Given the description of an element on the screen output the (x, y) to click on. 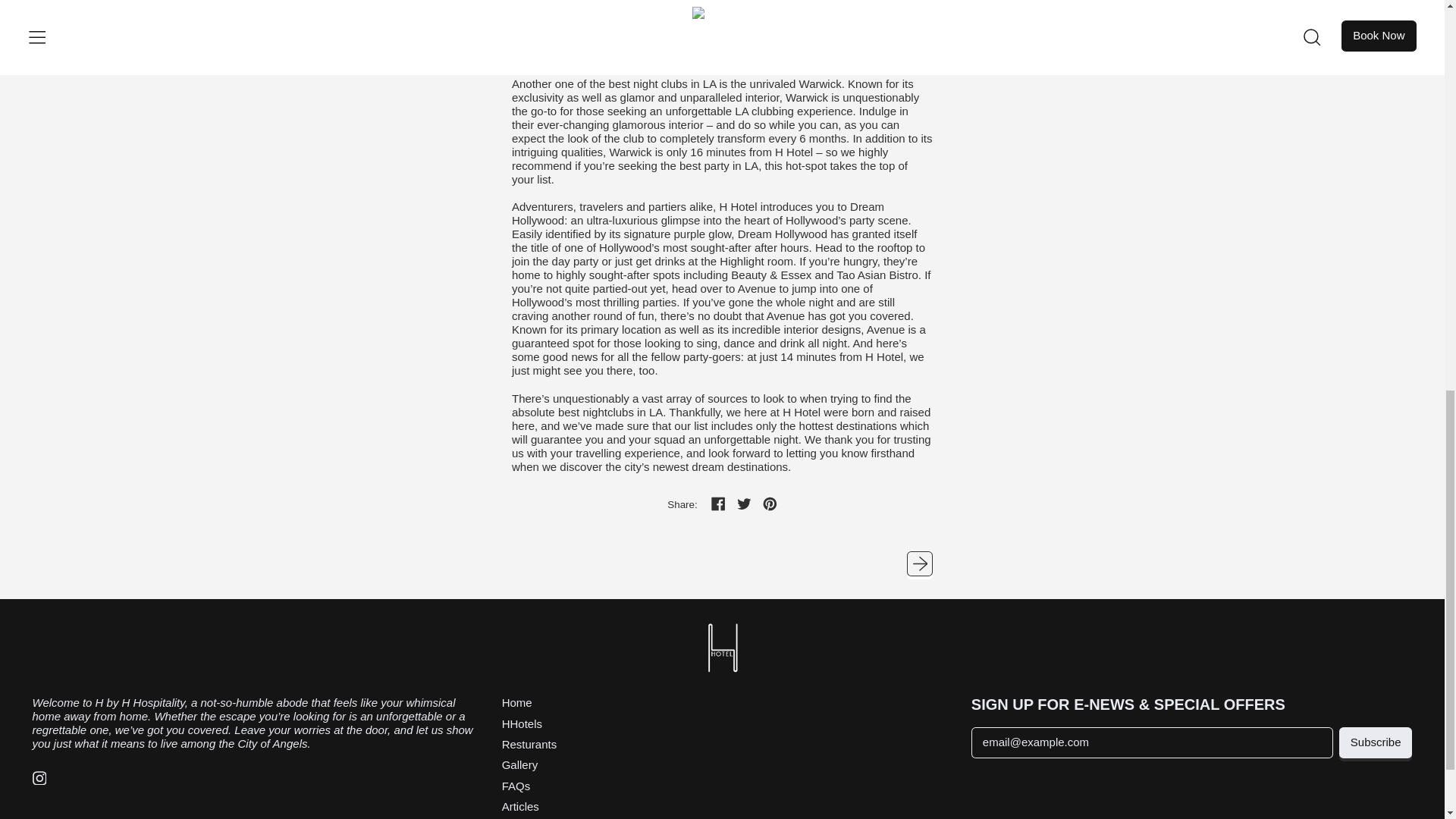
Subscribe (1375, 742)
Resturants (529, 744)
FAQs (516, 785)
Share on Facebook (719, 505)
Tweet on Twitter (744, 505)
Instagram (39, 780)
Home (517, 702)
HHotels (521, 723)
Gallery (520, 764)
Pin on Pinterest (770, 505)
